Given the description of an element on the screen output the (x, y) to click on. 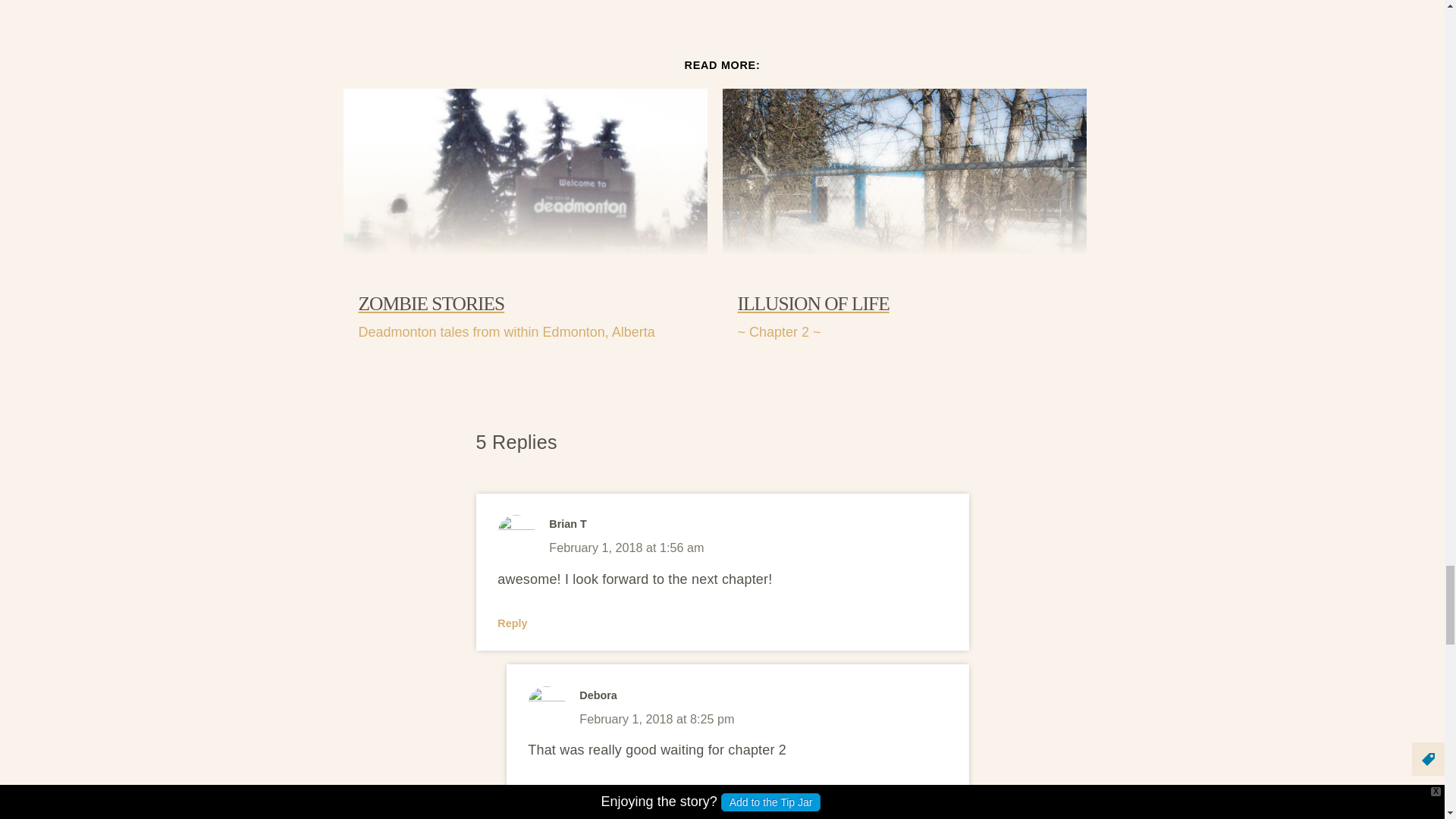
February 1, 2018 at 8:25 pm (656, 718)
Reply (512, 623)
February 1, 2018 at 1:56 am (625, 547)
Reply (542, 793)
